Given the description of an element on the screen output the (x, y) to click on. 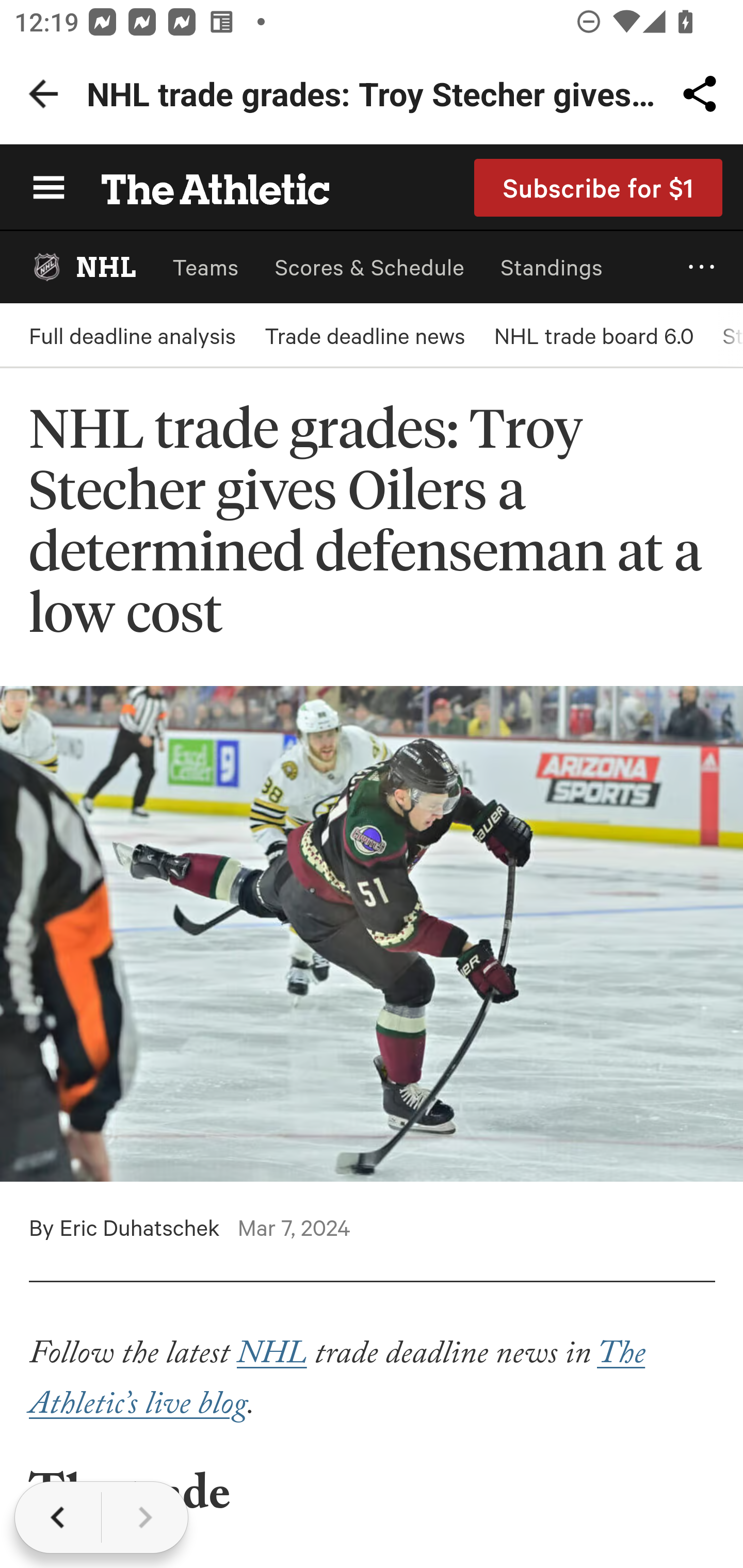
The Athletic (204, 187)
Subscribe for $1 (598, 187)
NHL NHL NHL NHL (82, 267)
Teams (205, 267)
Scores & Schedule (369, 267)
Standings (552, 267)
• • • (701, 267)
Full deadline analysis (132, 335)
Trade deadline news (364, 335)
NHL trade board 6.0 (593, 335)
Championship (371, 1221)
The Athletic’s live blog (337, 1382)
NHL (270, 1357)
